Given the description of an element on the screen output the (x, y) to click on. 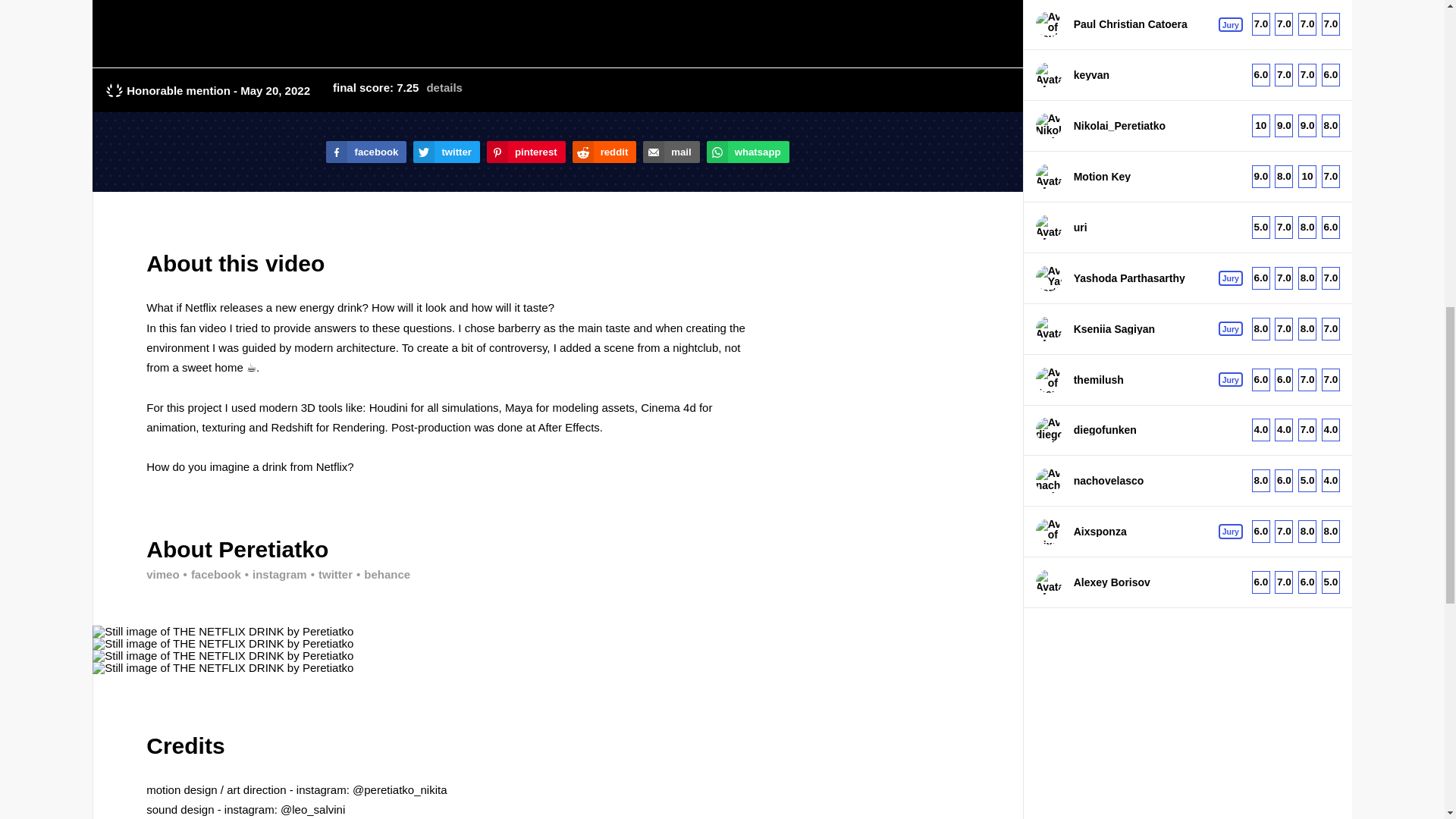
instagram of Peretiatko (274, 573)
facebook of Peretiatko (210, 573)
twitter (329, 573)
vimeo (163, 573)
vimeo of Peretiatko (163, 573)
behance of Peretiatko (381, 573)
facebook (210, 573)
behance (381, 573)
twitter of Peretiatko (329, 573)
instagram (274, 573)
